Given the description of an element on the screen output the (x, y) to click on. 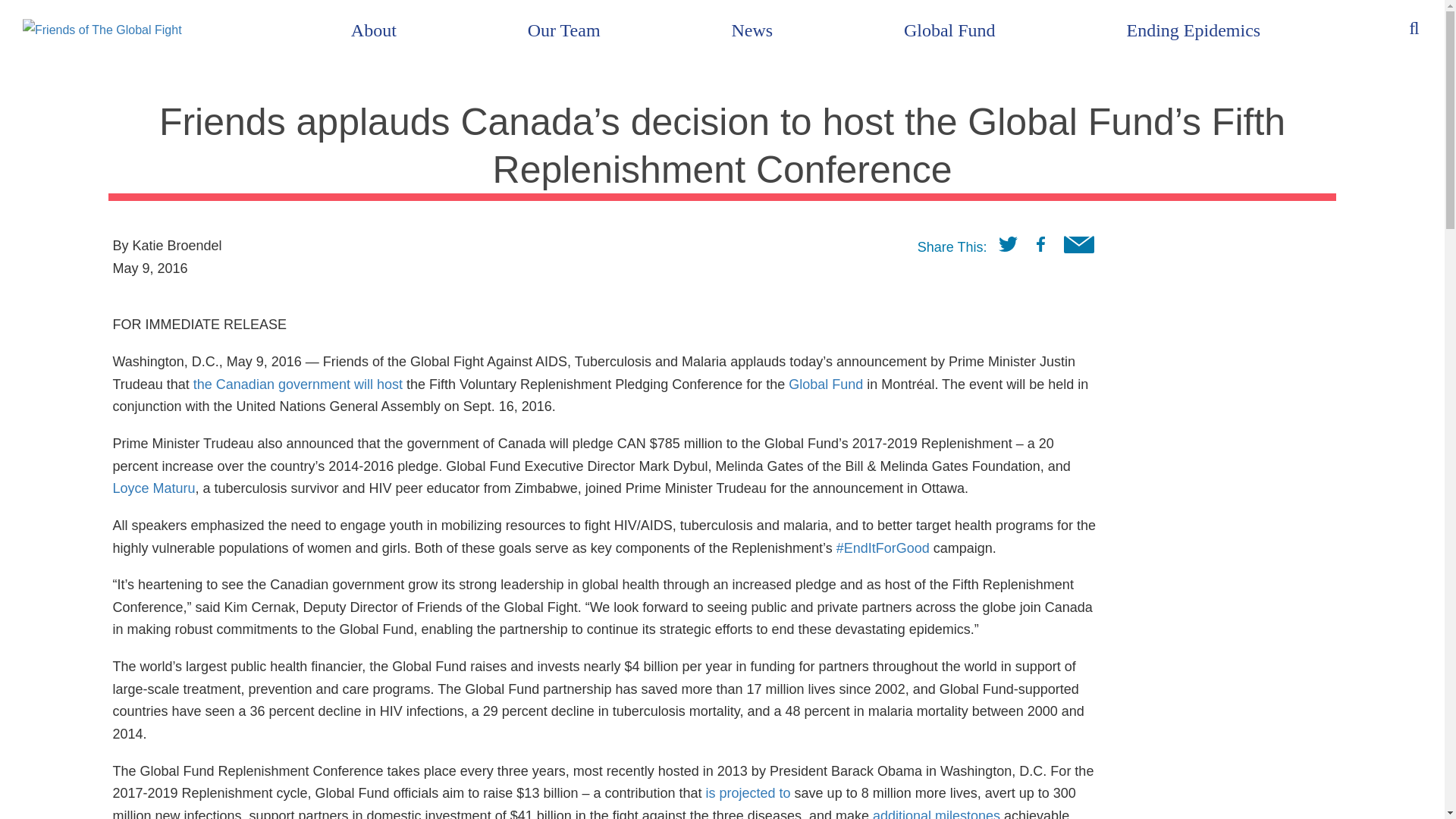
Our Team (563, 30)
is projected to (748, 792)
Global Fund (826, 384)
About (373, 30)
the Canadian government will host (298, 384)
additional milestones (936, 813)
Global Fund (949, 30)
Loyce Maturu (153, 488)
News (751, 30)
Ending Epidemics (1193, 30)
